Given the description of an element on the screen output the (x, y) to click on. 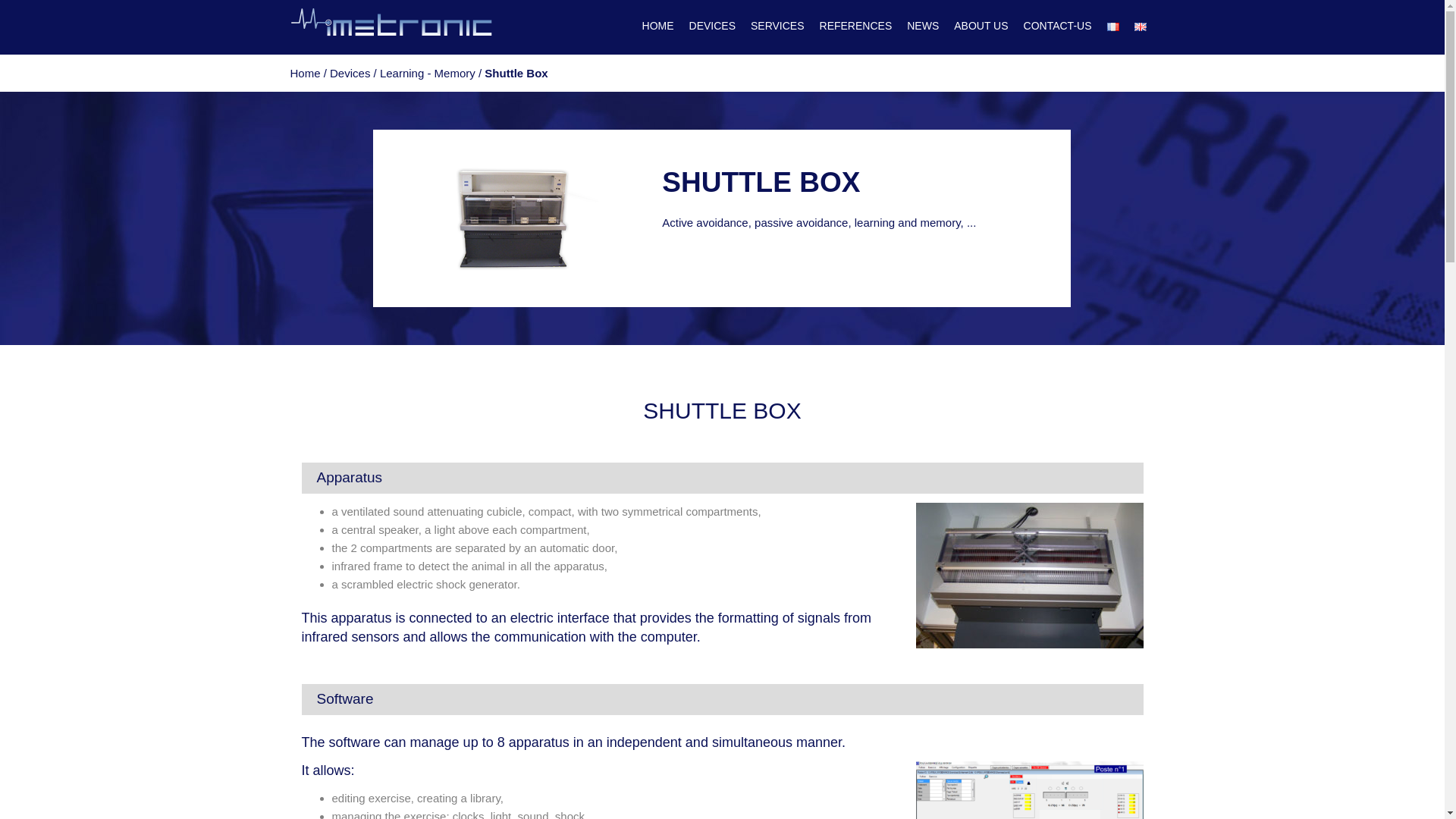
CONTACT-US (1057, 25)
Learning - Memory (428, 72)
REFERENCES (855, 25)
Home (304, 72)
Devices (349, 72)
SERVICES (778, 25)
NEWS (923, 25)
HOME (658, 25)
ABOUT US (980, 25)
DEVICES (711, 25)
